Given the description of an element on the screen output the (x, y) to click on. 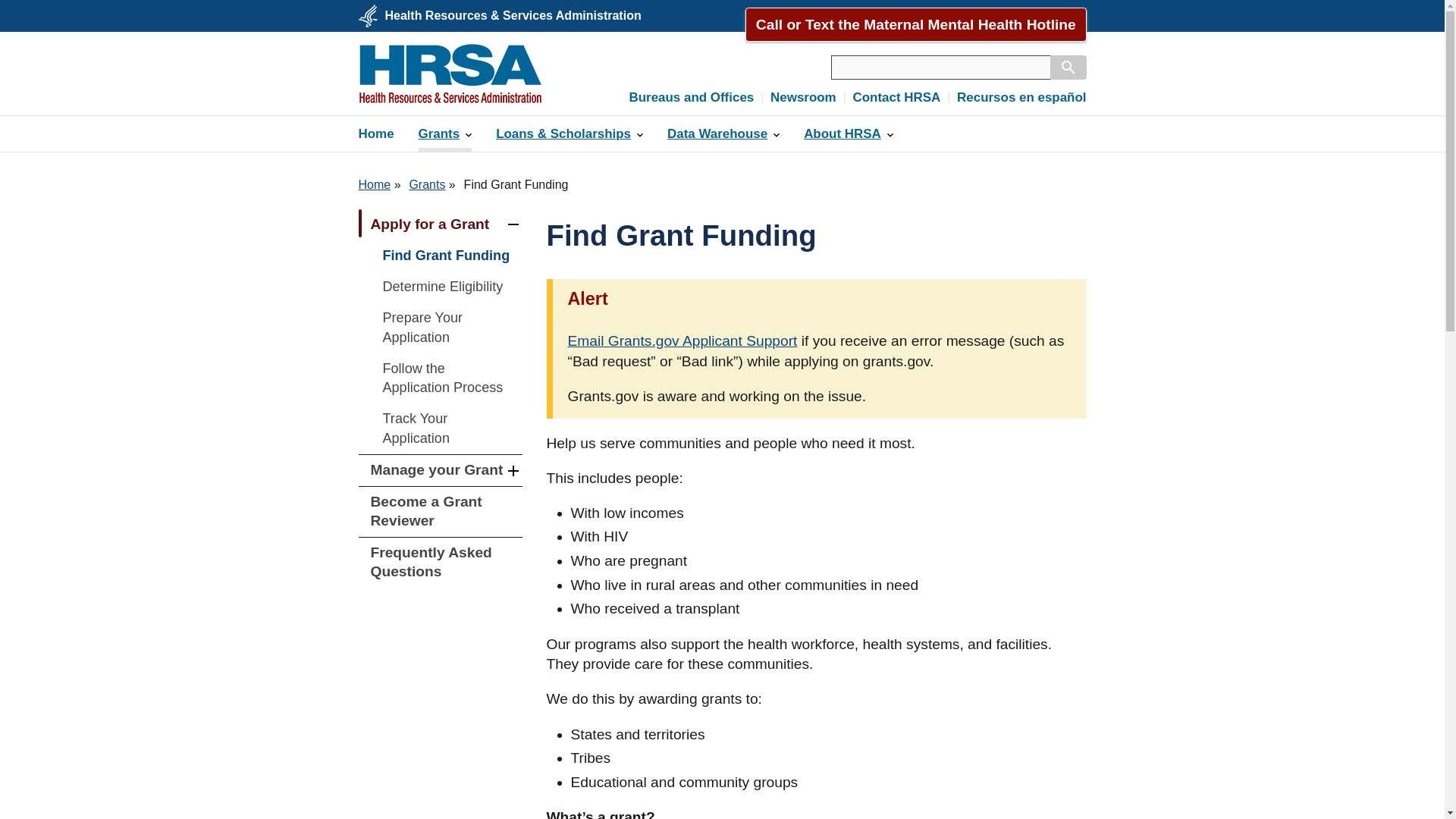
Apply for a Grant (439, 224)
Data Warehouse (723, 133)
Frequently Asked Questions (439, 562)
Manage your Grant (439, 470)
Grants (427, 184)
Grants (445, 133)
Prepare Your Application (439, 327)
Newsroom (802, 97)
About HRSA (848, 133)
Contact HRSA (1051, 15)
